Given the description of an element on the screen output the (x, y) to click on. 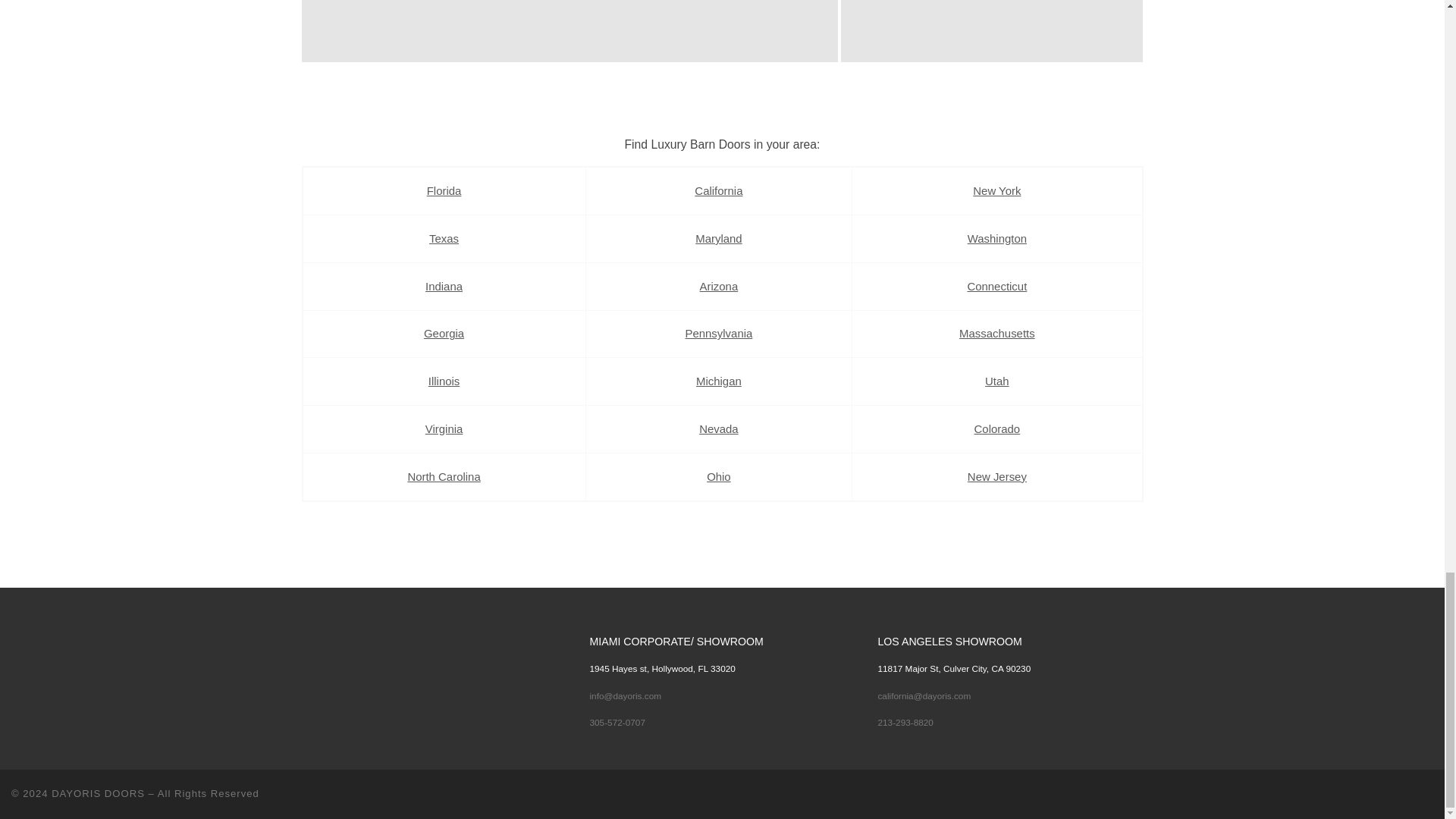
DAYORIS DOORS (97, 793)
